Given the description of an element on the screen output the (x, y) to click on. 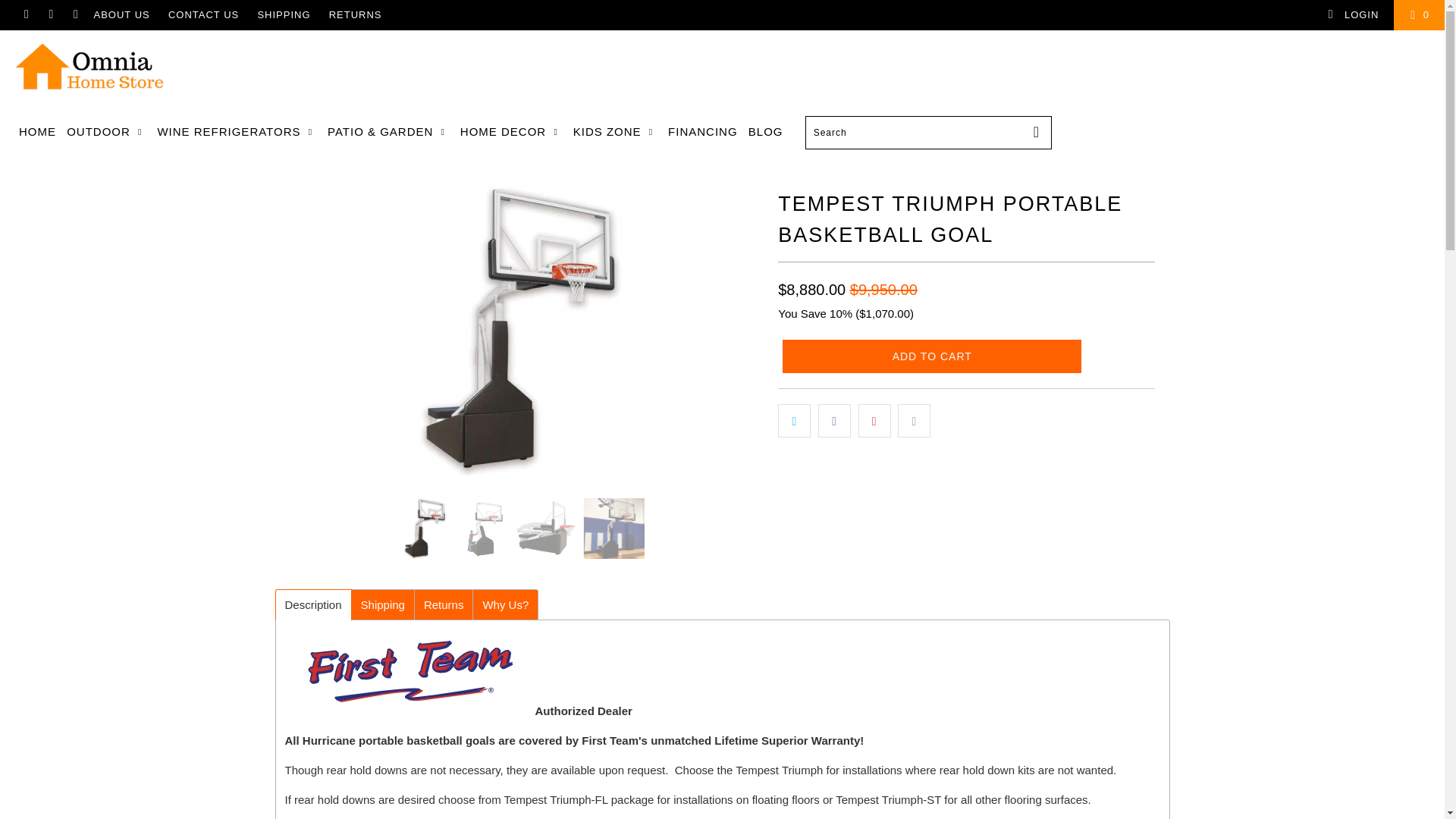
Share this on Twitter (793, 420)
Share this on Pinterest (875, 420)
Omnia Home Store on Instagram (74, 14)
Omnia Home Store on Facebook (25, 14)
Omnia Home Store on Pinterest (50, 14)
Share this on Facebook (834, 420)
My Account  (1352, 15)
Email this to a friend (914, 420)
